Given the description of an element on the screen output the (x, y) to click on. 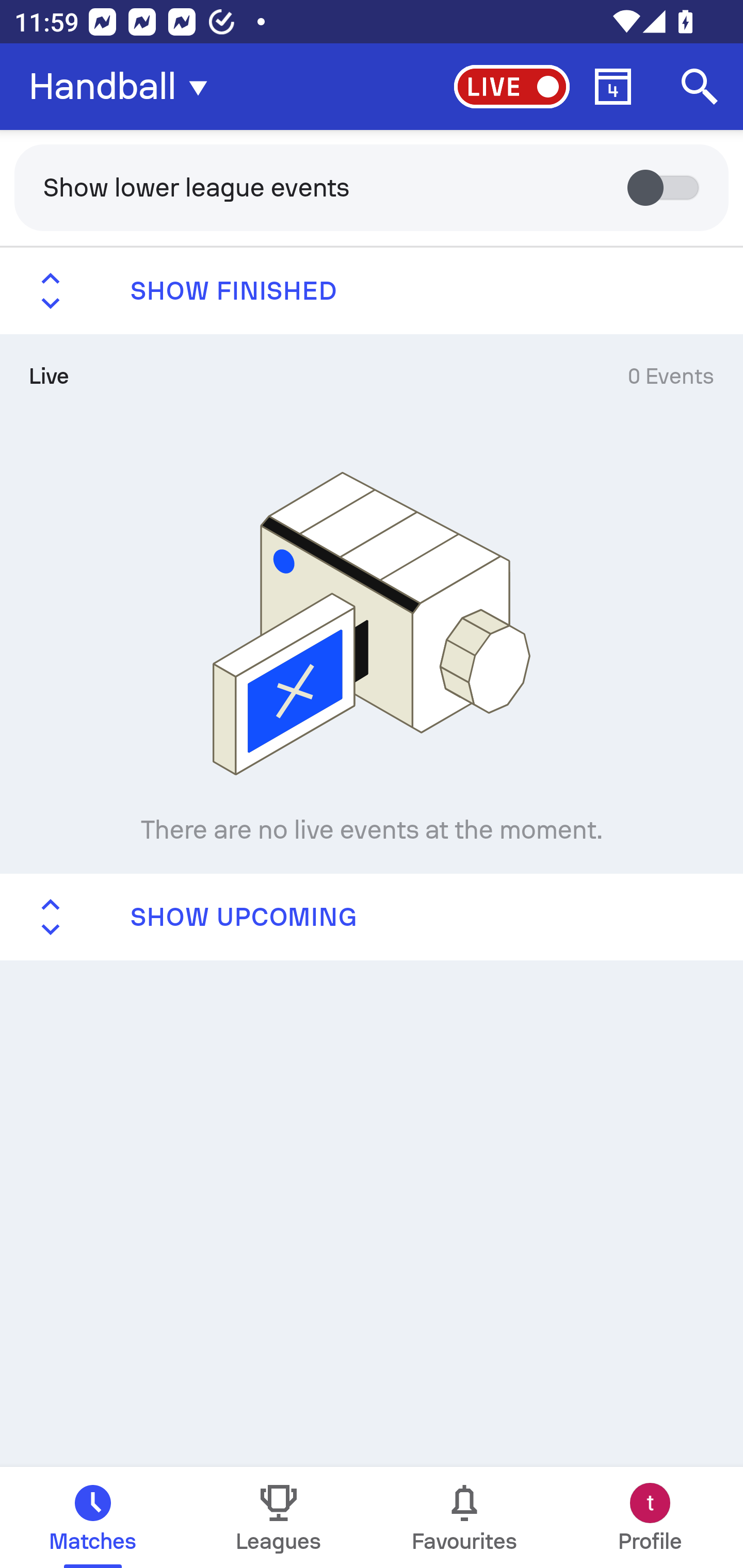
Handball (124, 86)
Calendar (612, 86)
Search (699, 86)
Show lower league events (371, 187)
SHOW FINISHED (371, 290)
SHOW UPCOMING (371, 916)
Leagues (278, 1517)
Favourites (464, 1517)
Profile (650, 1517)
